Given the description of an element on the screen output the (x, y) to click on. 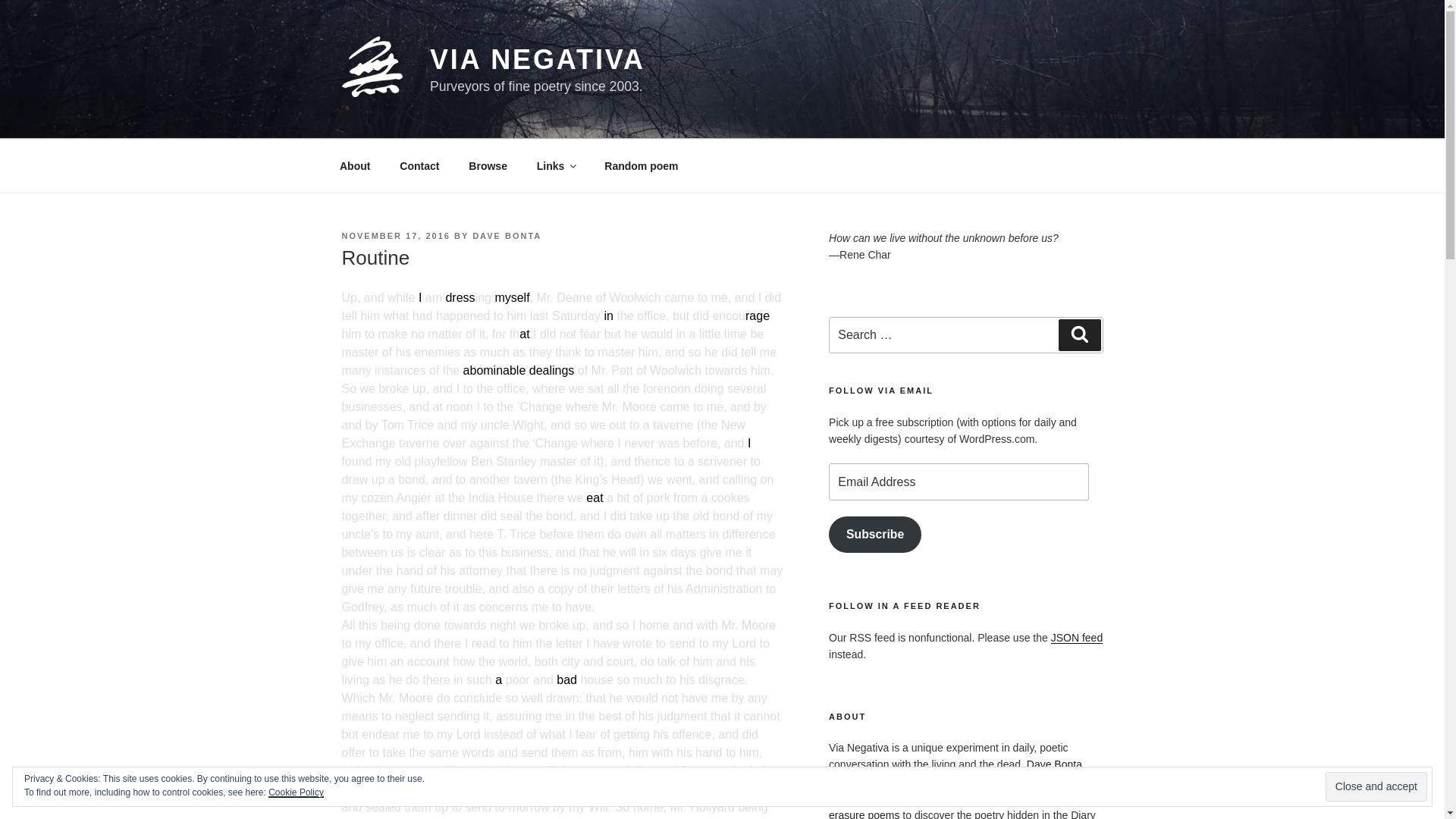
About Via Negativa (354, 165)
VIA NEGATIVA (537, 59)
NOVEMBER 17, 2016 (394, 235)
Contact (419, 165)
Browse (488, 165)
DAVE BONTA (506, 235)
Search (1079, 335)
Luisa A. Igloria (1000, 781)
erasure poems (863, 814)
About (354, 165)
